Given the description of an element on the screen output the (x, y) to click on. 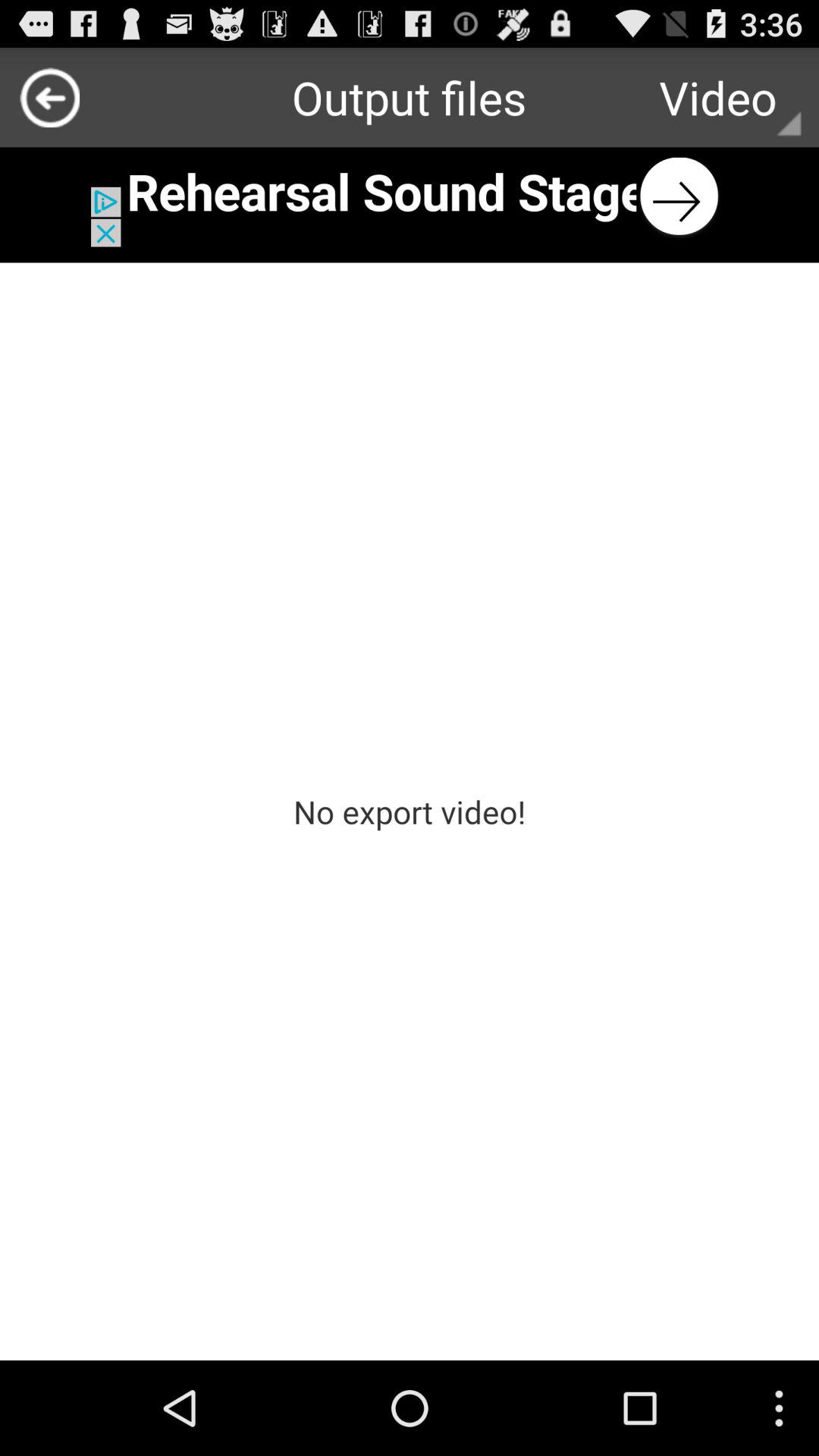
advertiser banner (409, 196)
